Given the description of an element on the screen output the (x, y) to click on. 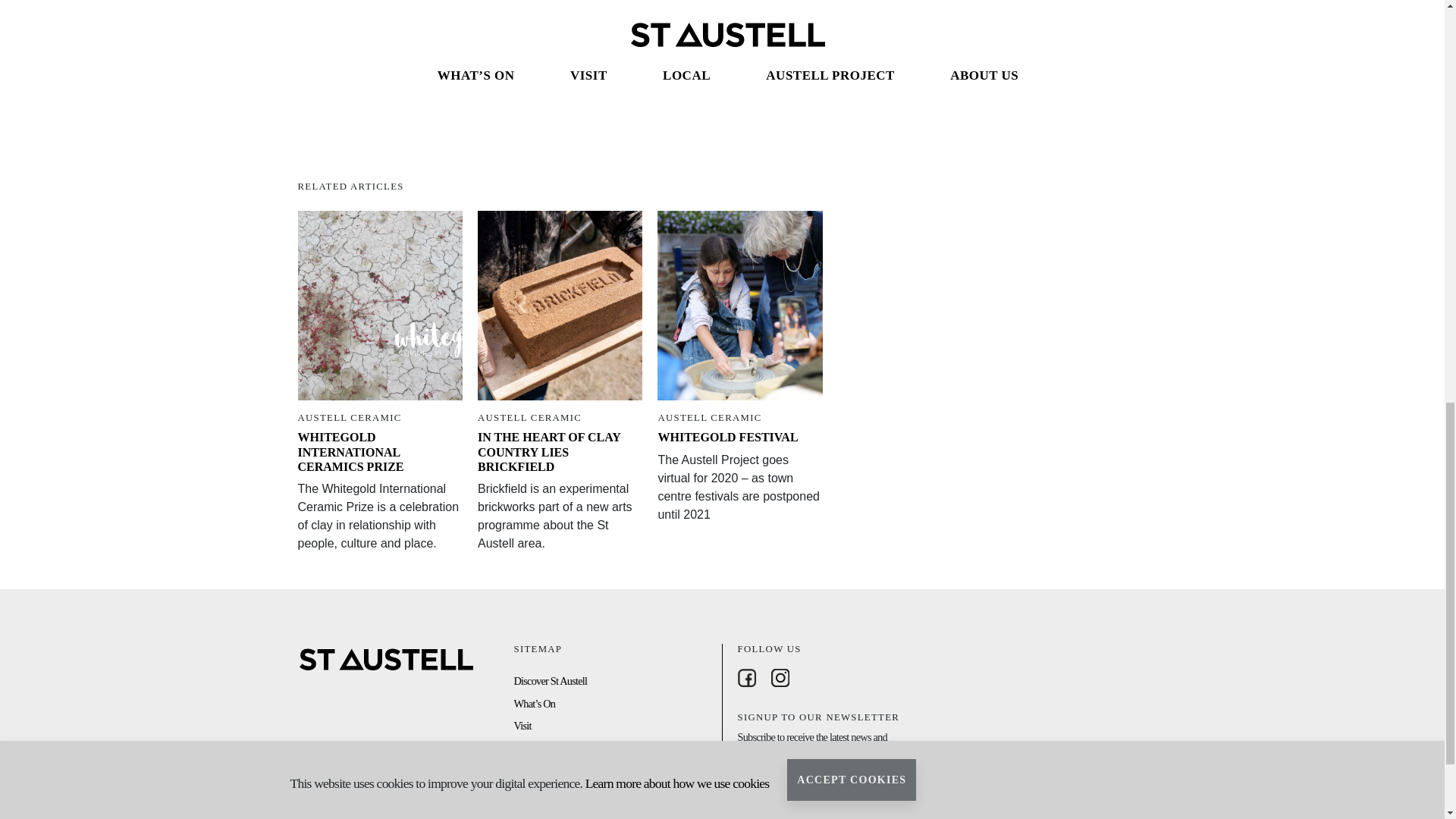
Follow on Facebook (748, 678)
Austell Project (541, 770)
Visit (522, 725)
About Us (532, 793)
Discover St Austell (550, 680)
WHITEGOLD INTERNATIONAL CERAMICS PRIZE (350, 451)
Local (524, 748)
austell-project-marion-brandis-33 (938, 48)
WHITEGOLD FESTIVAL (727, 436)
IN THE HEART OF CLAY COUNTRY LIES BRICKFIELD (548, 451)
Follow on Instagram (782, 678)
